Given the description of an element on the screen output the (x, y) to click on. 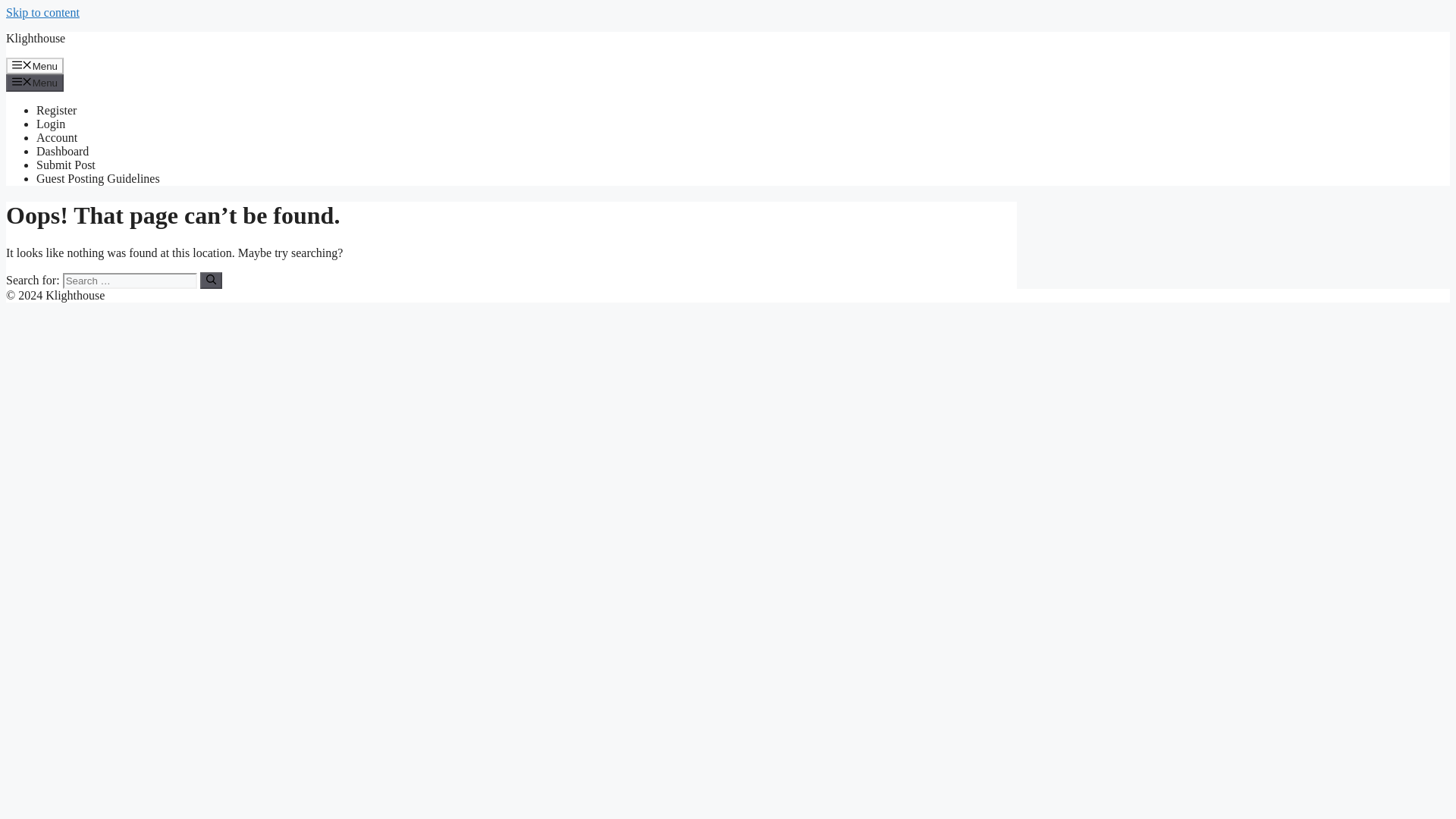
Skip to content (42, 11)
Dashboard (62, 151)
Submit Post (66, 164)
Guest Posting Guidelines (98, 178)
Search for: (129, 280)
Account (56, 137)
Menu (34, 82)
Menu (34, 65)
Skip to content (42, 11)
Register (56, 110)
Klighthouse (35, 38)
Login (50, 123)
